Given the description of an element on the screen output the (x, y) to click on. 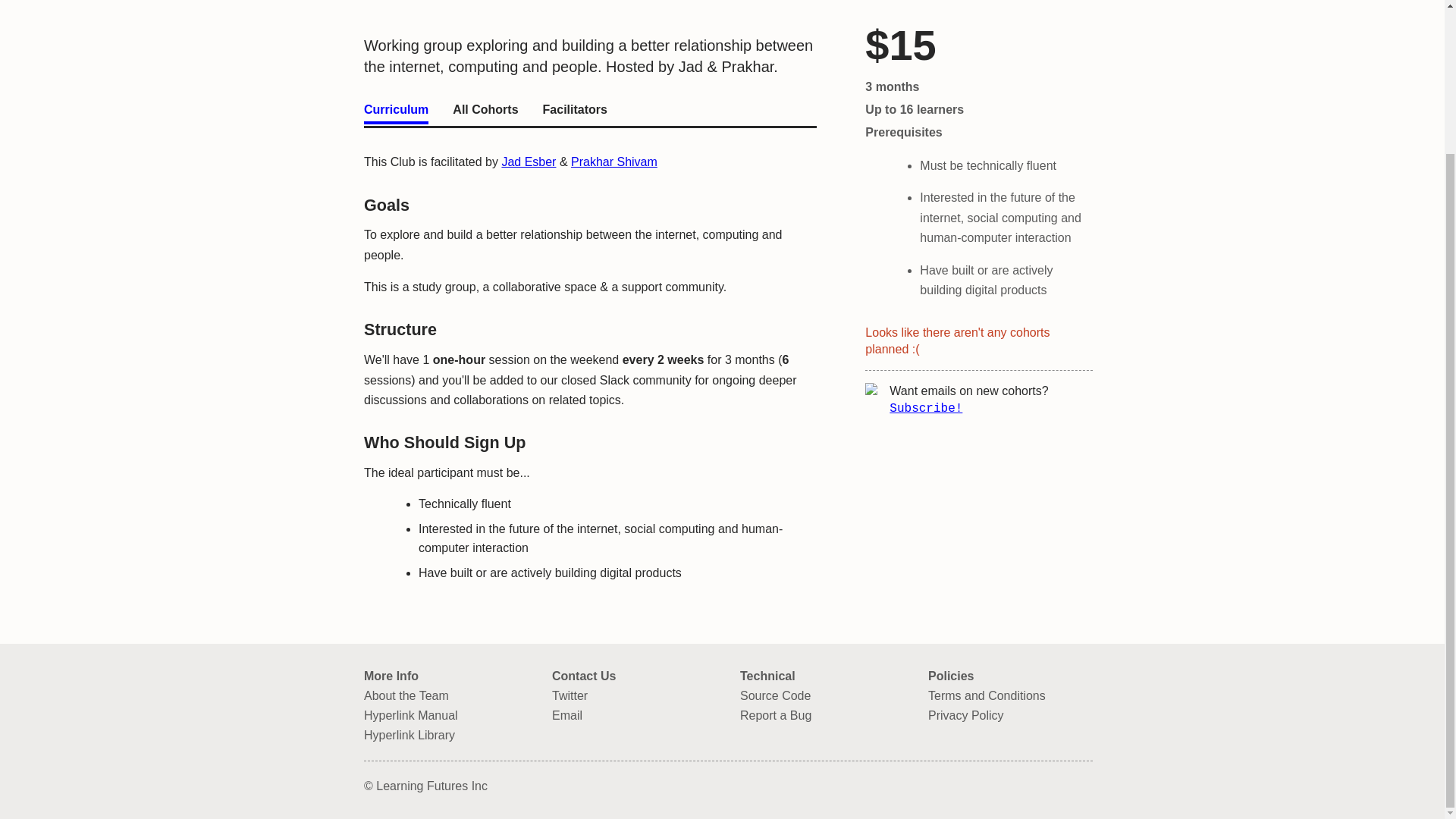
Twitter (633, 695)
About the Team (445, 695)
Email (633, 715)
Prakhar Shivam (614, 161)
Privacy Policy (1010, 715)
Curriculum (396, 112)
Jad Esber (528, 161)
Facilitators (575, 112)
Subscribe! (925, 302)
Terms and Conditions (1010, 695)
